Given the description of an element on the screen output the (x, y) to click on. 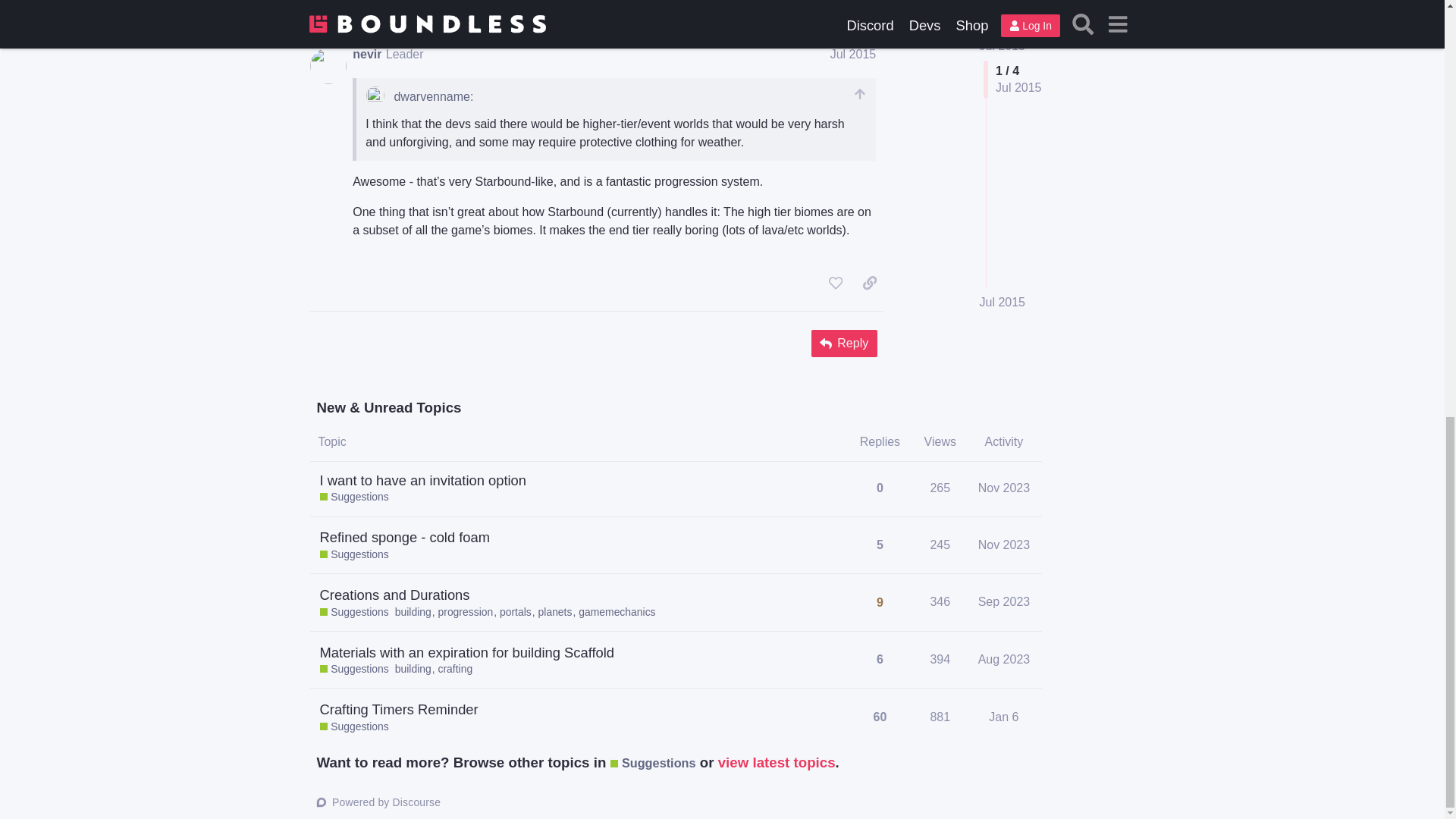
nevir (366, 53)
